Given the description of an element on the screen output the (x, y) to click on. 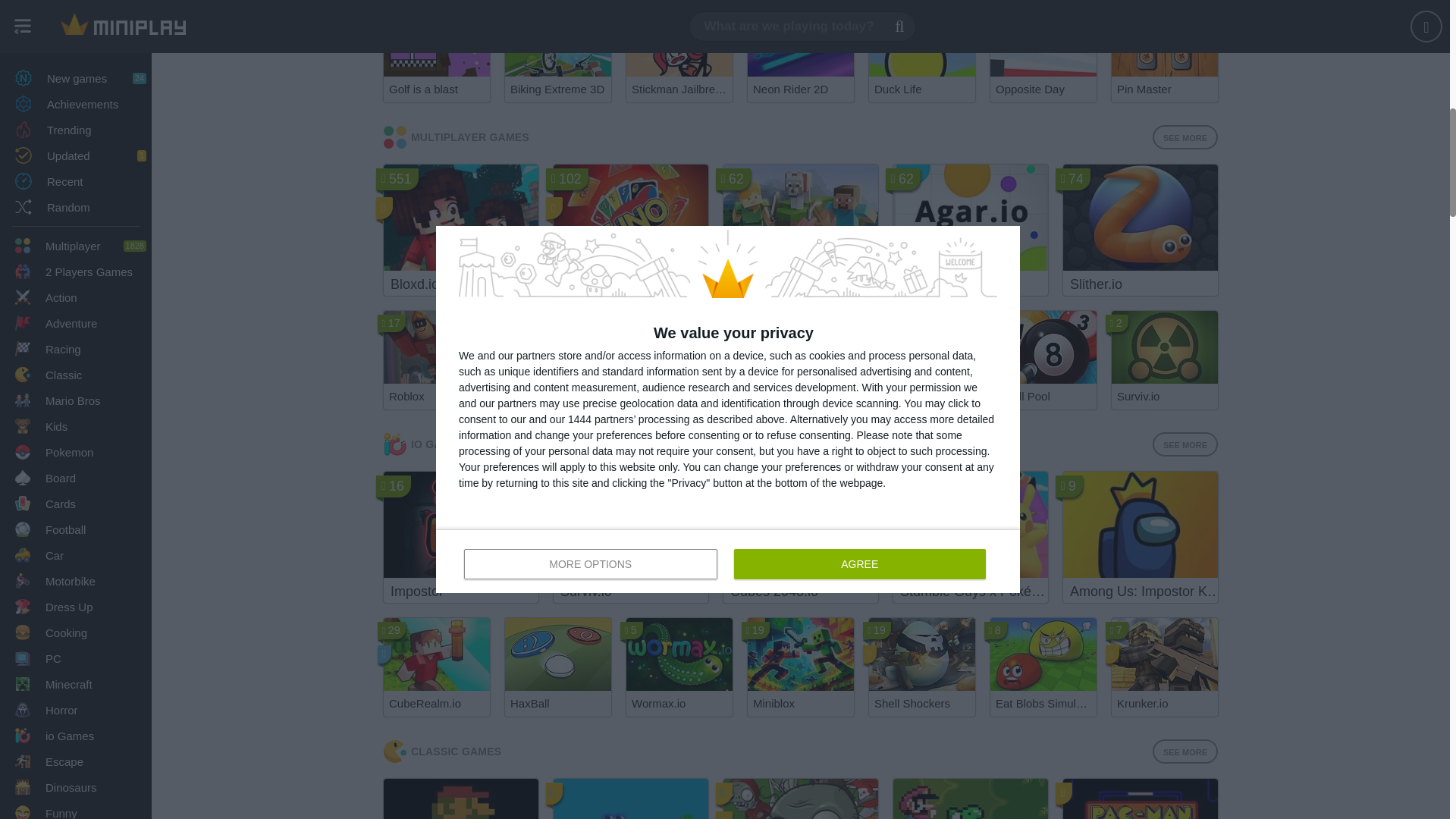
Funny (75, 3)
